Given the description of an element on the screen output the (x, y) to click on. 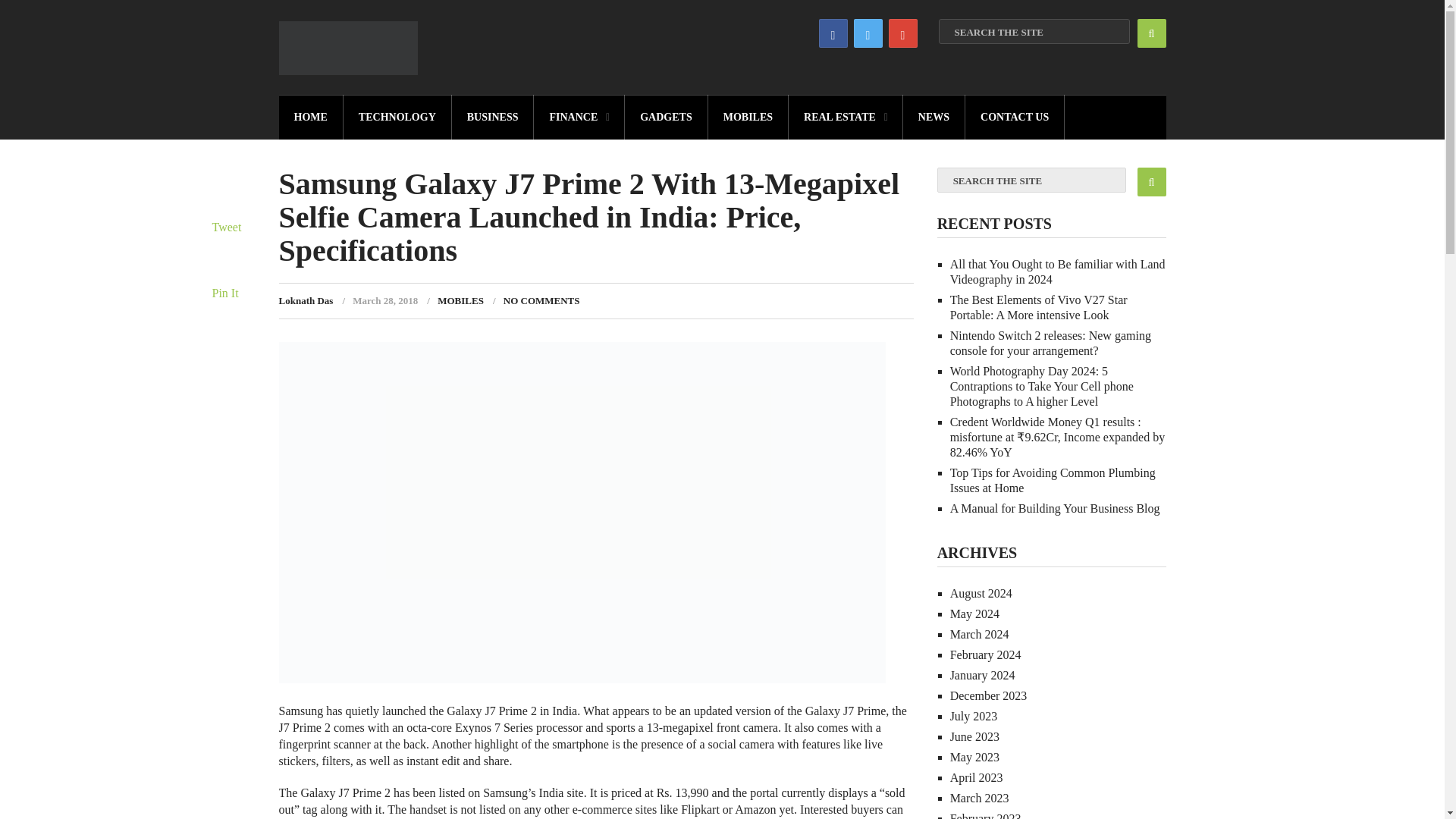
GADGETS (665, 117)
Tweet (226, 226)
CONTACT US (1014, 117)
TECHNOLOGY (397, 117)
August 2024 (980, 593)
Posts by Loknath Das (306, 300)
A Manual for Building Your Business Blog (1055, 508)
HOME (311, 117)
MOBILES (748, 117)
